Given the description of an element on the screen output the (x, y) to click on. 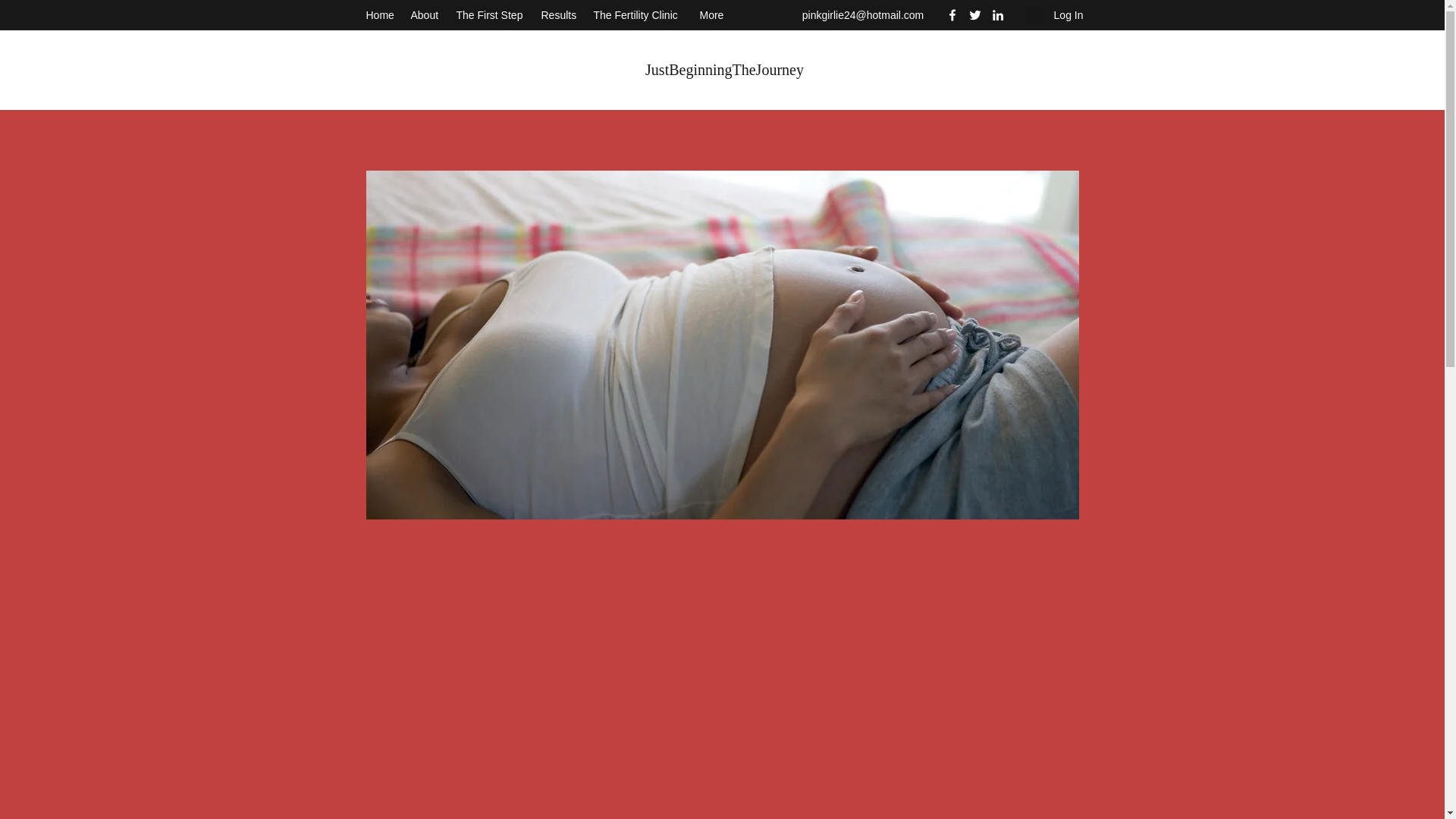
Log In (1055, 14)
The First Step (491, 15)
The Fertility Clinic (638, 15)
Results (560, 15)
Home (380, 15)
About (425, 15)
